Given the description of an element on the screen output the (x, y) to click on. 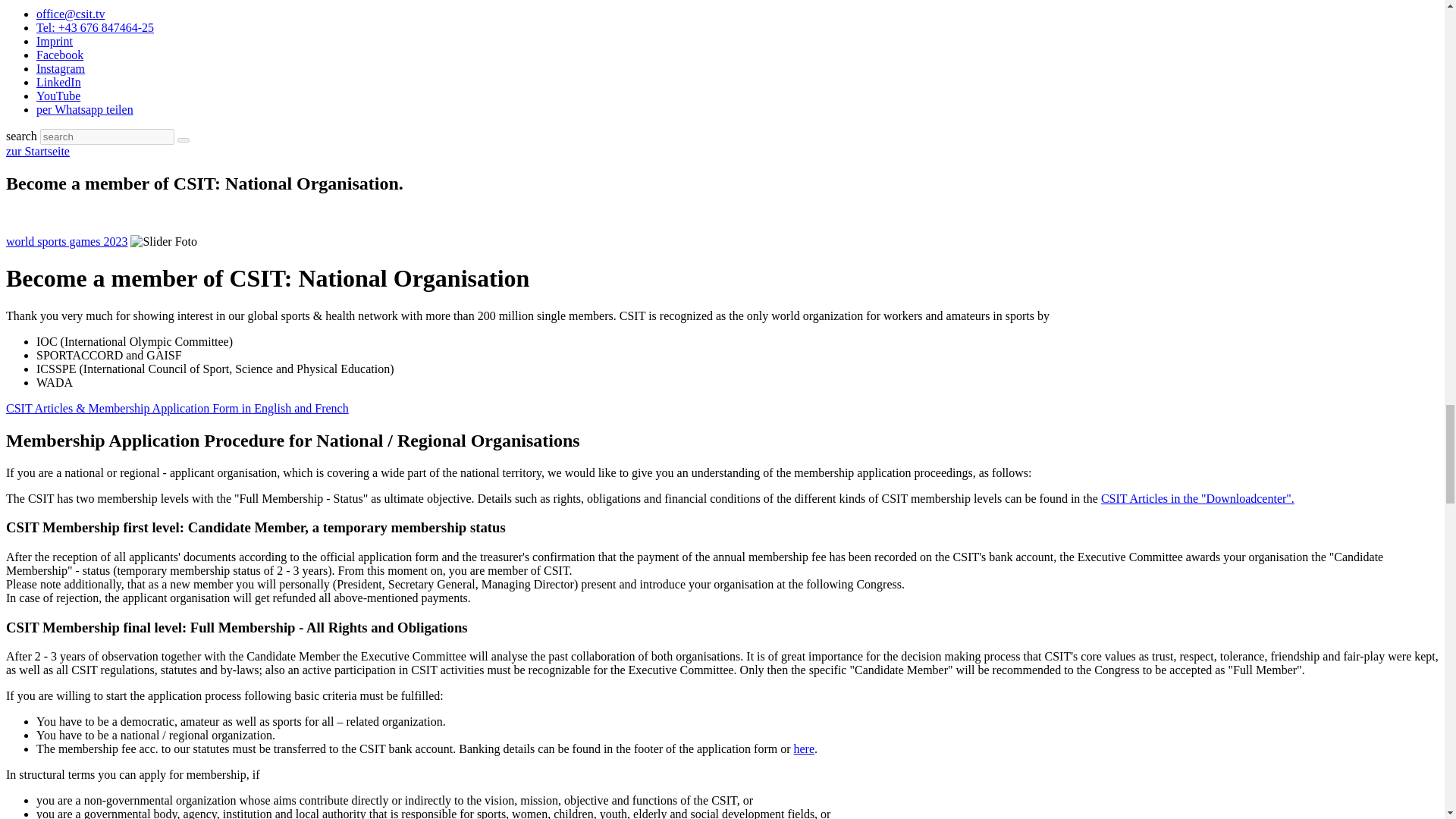
Facebook (59, 54)
search (183, 140)
LinkedIn (58, 82)
Instagram (60, 68)
per Whatsapp teilen (84, 109)
zur Startseite (37, 151)
world sports games 2023 (66, 241)
Imprint (54, 41)
here (804, 748)
CSIT Articles in the "Downloadcenter". (1197, 497)
